Given the description of an element on the screen output the (x, y) to click on. 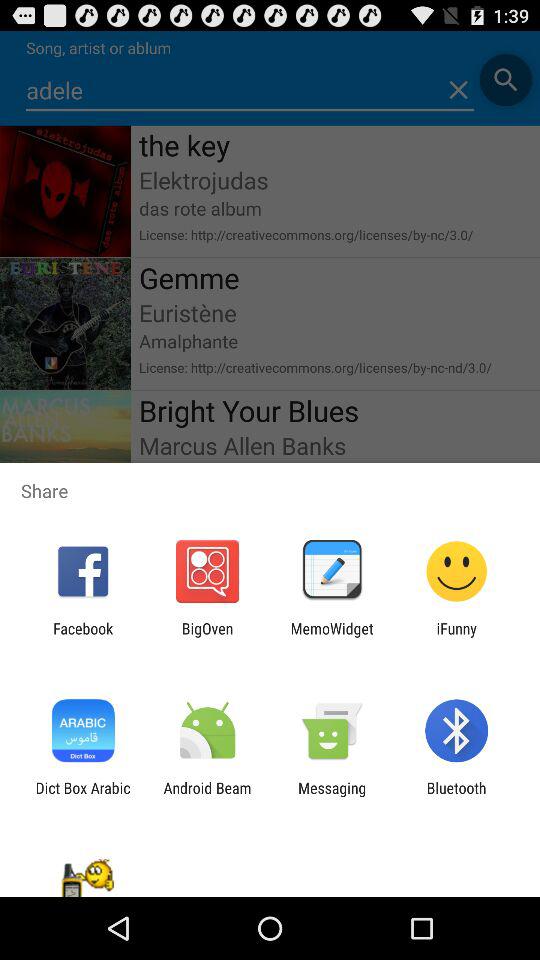
press the item next to ifunny app (331, 637)
